Given the description of an element on the screen output the (x, y) to click on. 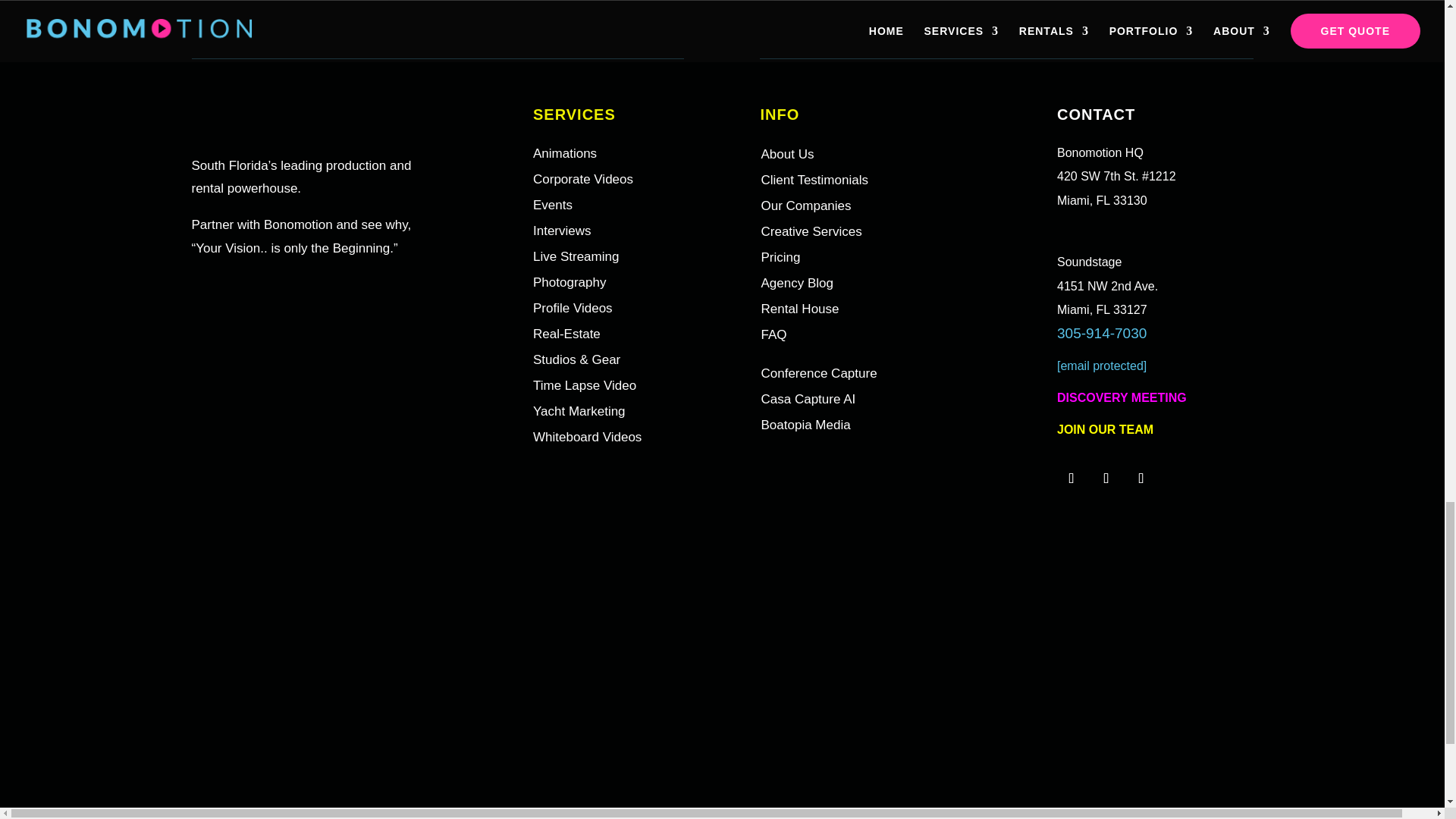
Follow on Instagram (1071, 478)
bonomotion-logo-white (294, 117)
Follow on Youtube (1141, 478)
Bonomotion Miami Video Agency (722, 57)
Follow on Facebook (1106, 478)
Animations (564, 153)
Corporate Videos (582, 178)
